Given the description of an element on the screen output the (x, y) to click on. 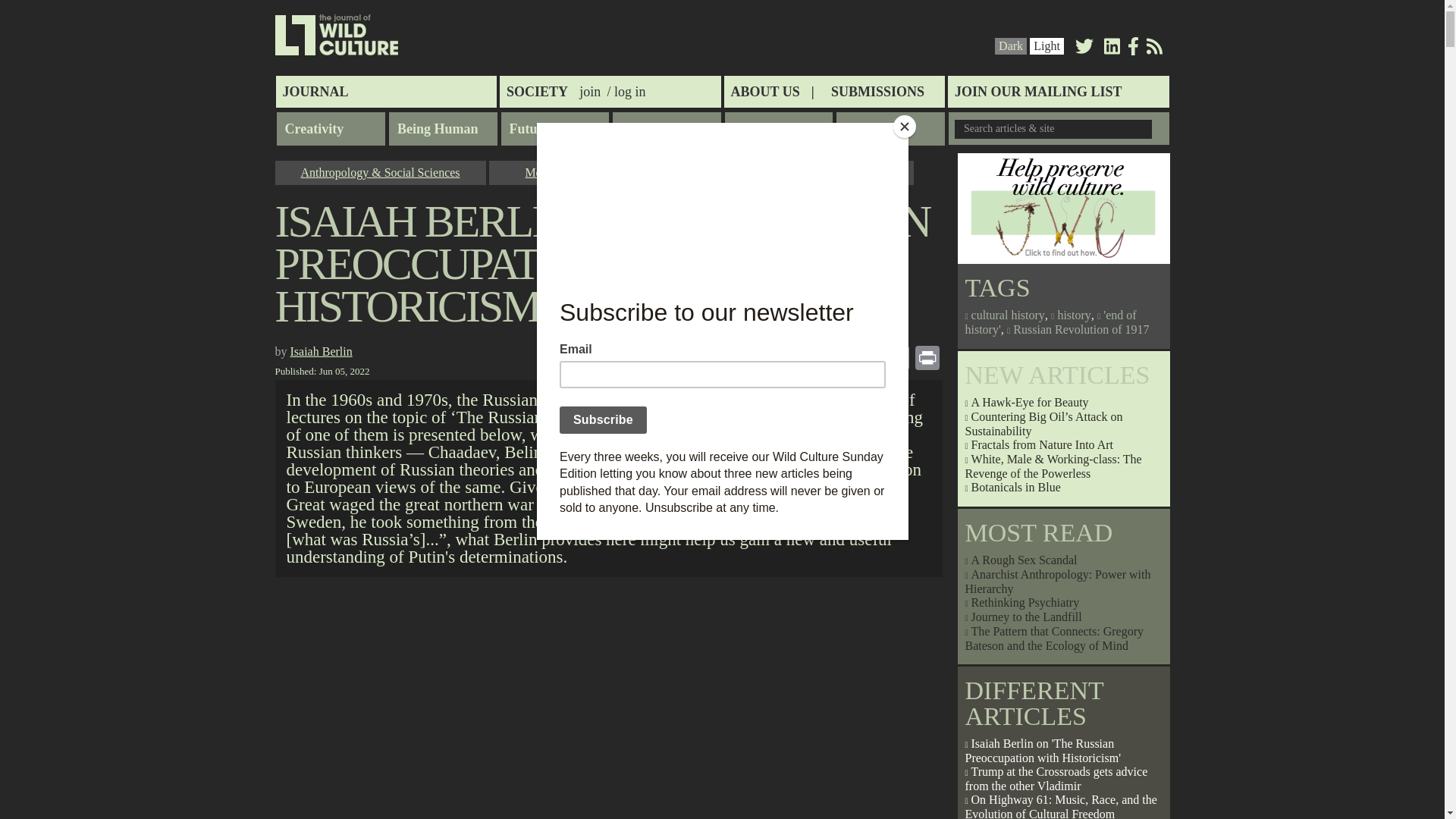
Twitter (1084, 48)
Home (336, 35)
SOCIETY (537, 91)
Dark (1010, 45)
Linkedin (1112, 48)
Being Human (442, 128)
JOIN OUR MAILING LIST (1058, 91)
ABOUT US (772, 91)
Facebook (1133, 48)
Creativity (330, 128)
Futures (554, 128)
Light (1046, 45)
SUBMISSIONS (877, 91)
Rss (1154, 48)
